Given the description of an element on the screen output the (x, y) to click on. 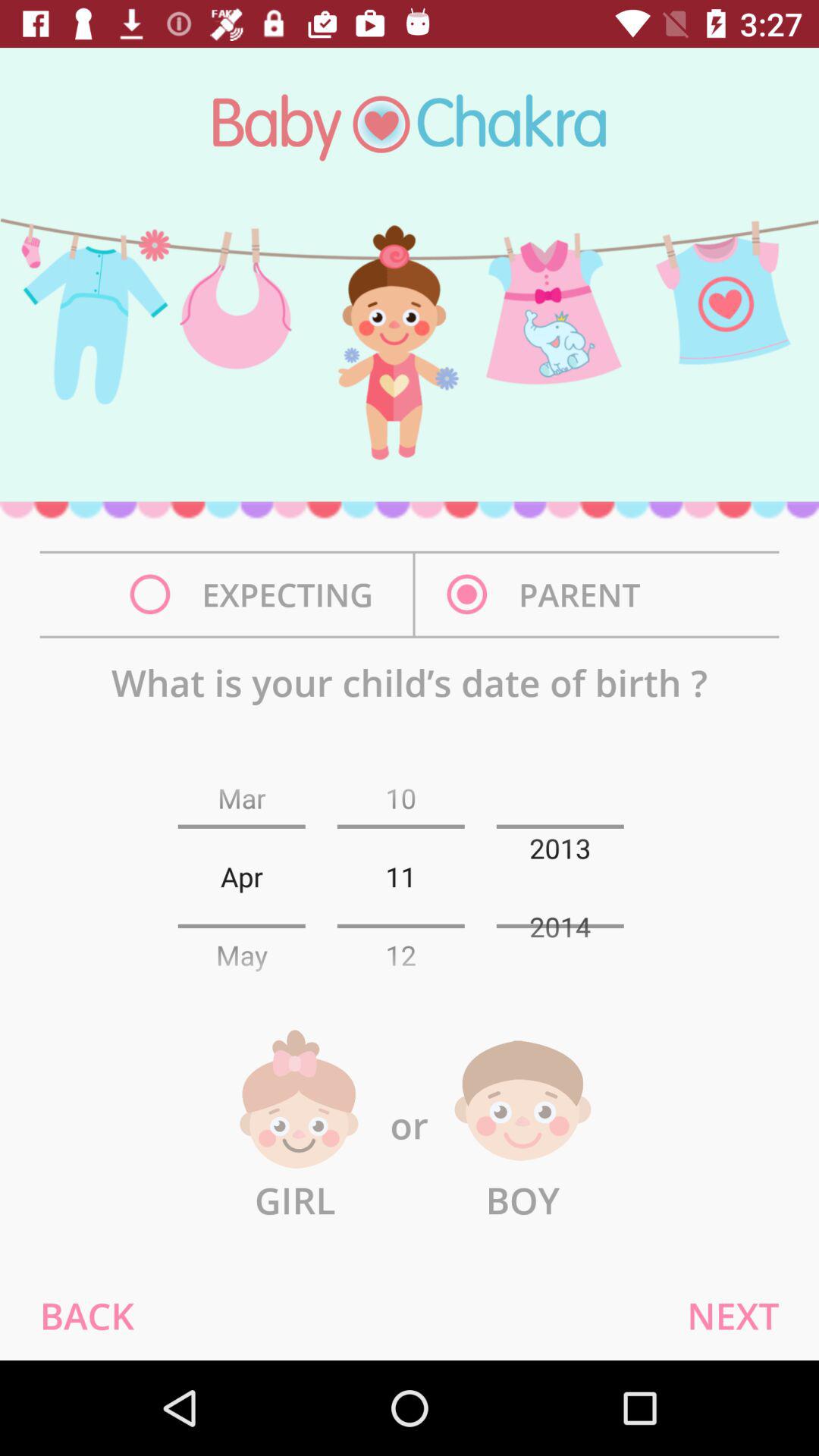
click the back (86, 1315)
click next (733, 1315)
select parent (547, 594)
select baby chakra (409, 127)
click the number next to the text apr (401, 877)
select the image which is above the girl (295, 1100)
